Given the description of an element on the screen output the (x, y) to click on. 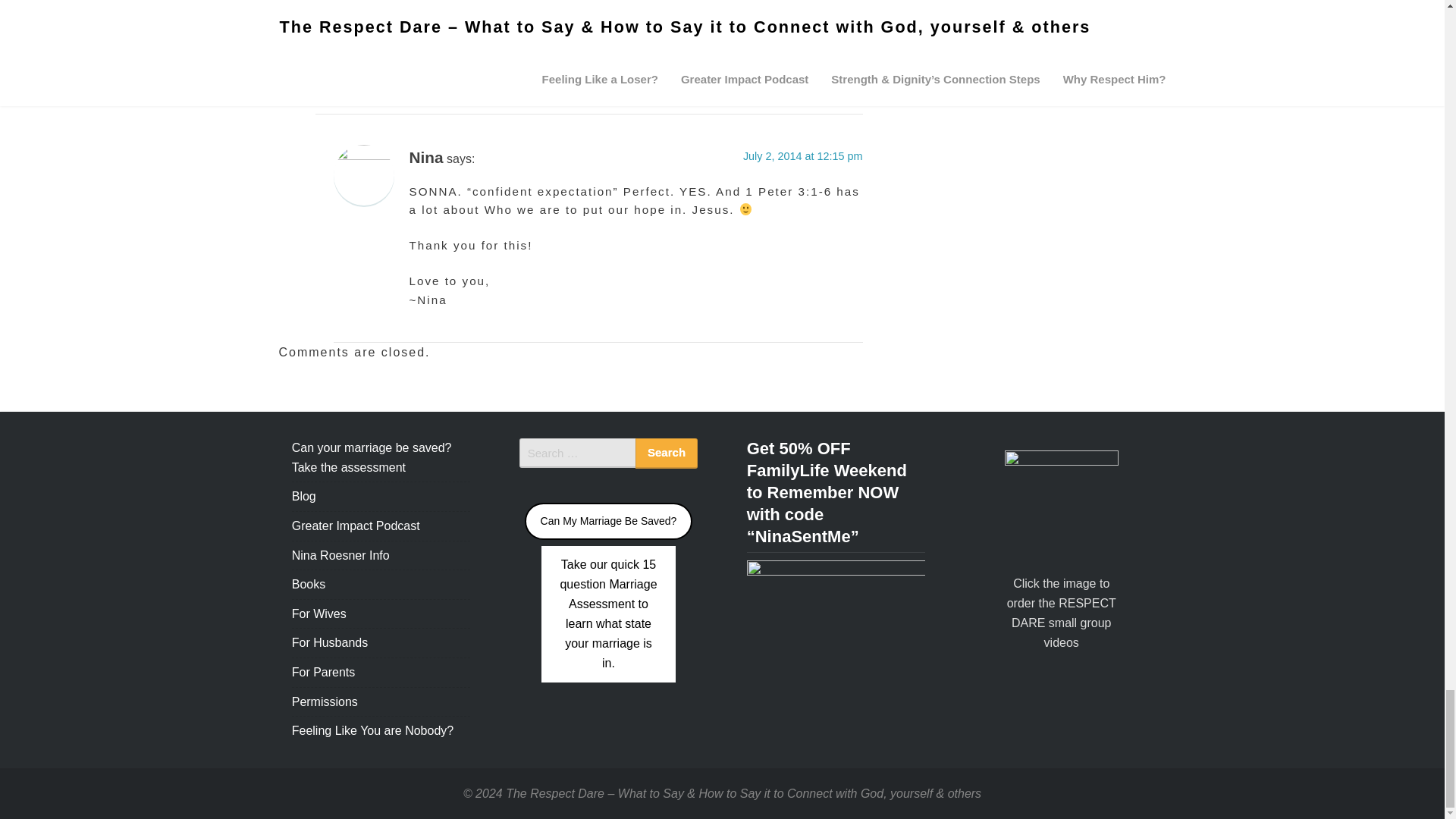
Search (665, 453)
July 2, 2014 at 12:15 pm (802, 155)
Search (665, 453)
